Given the description of an element on the screen output the (x, y) to click on. 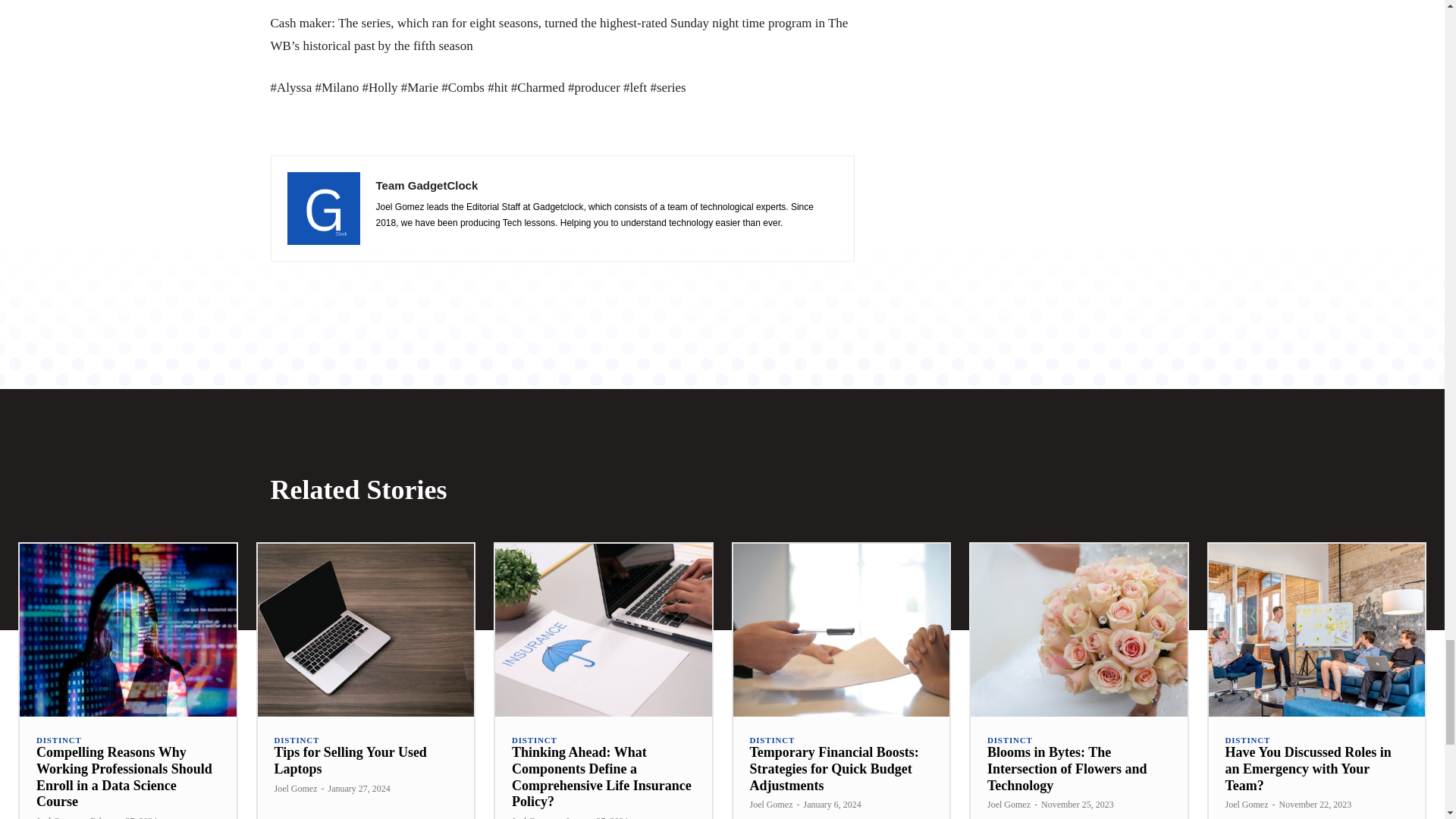
Team GadgetClock (322, 207)
